Given the description of an element on the screen output the (x, y) to click on. 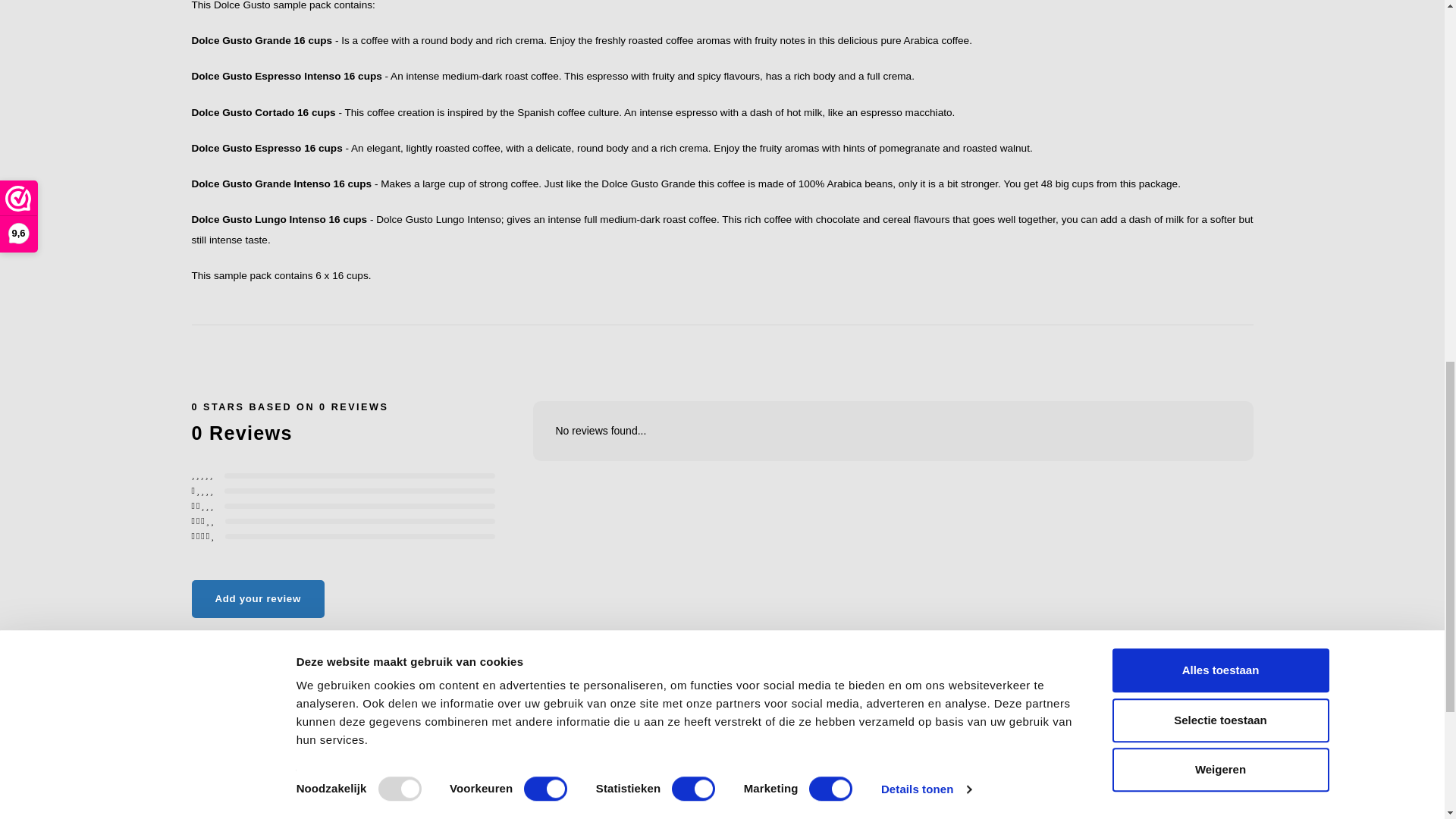
Subscribe (880, 804)
My tickets (1188, 812)
Register (1185, 770)
My orders (1188, 790)
